Given the description of an element on the screen output the (x, y) to click on. 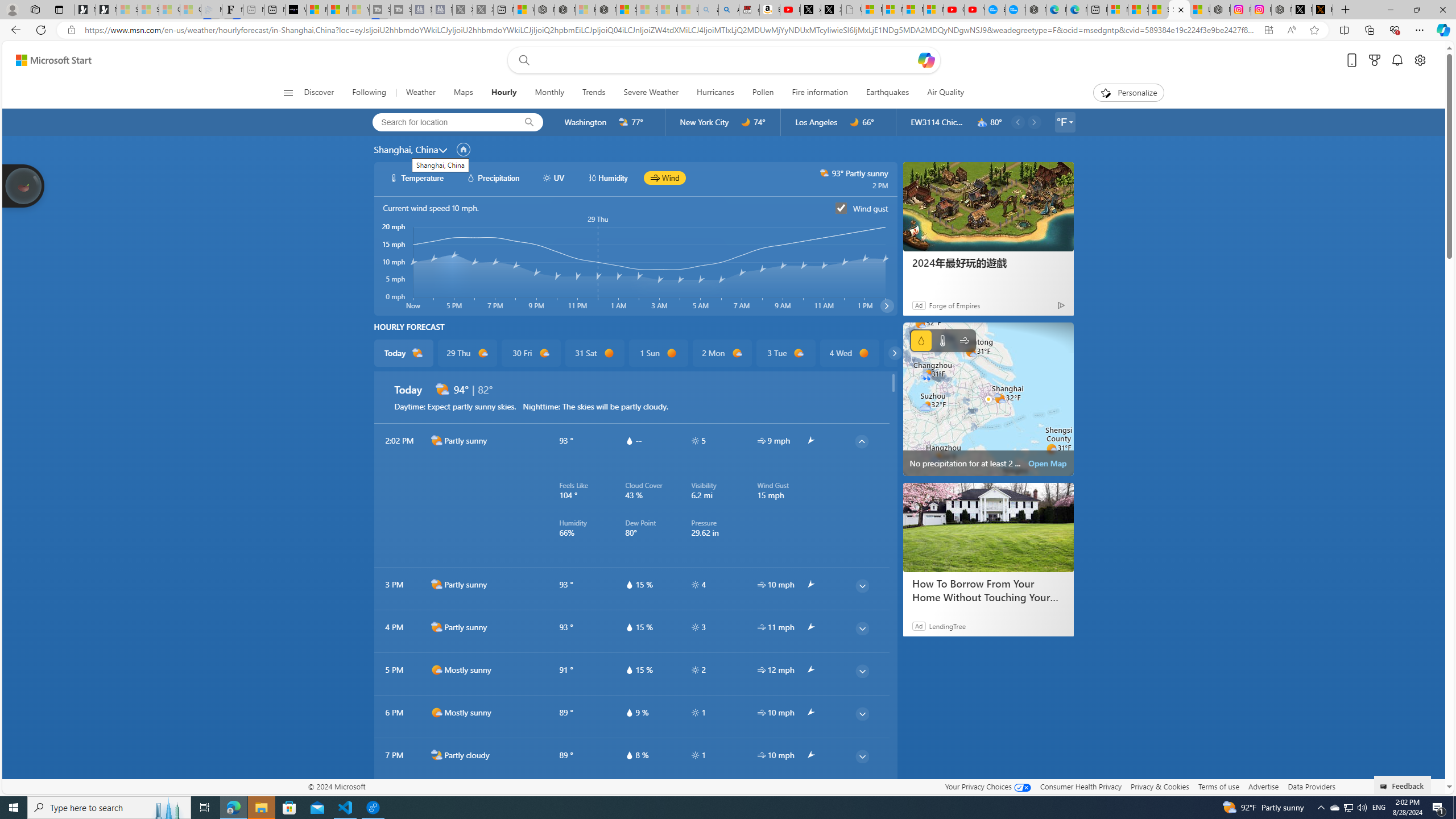
Trends (593, 92)
Monthly (549, 92)
hourlyTable/wind (761, 755)
Forge of Empires (953, 304)
hourlyChart/uvWhite (546, 177)
Air Quality (940, 92)
